Given the description of an element on the screen output the (x, y) to click on. 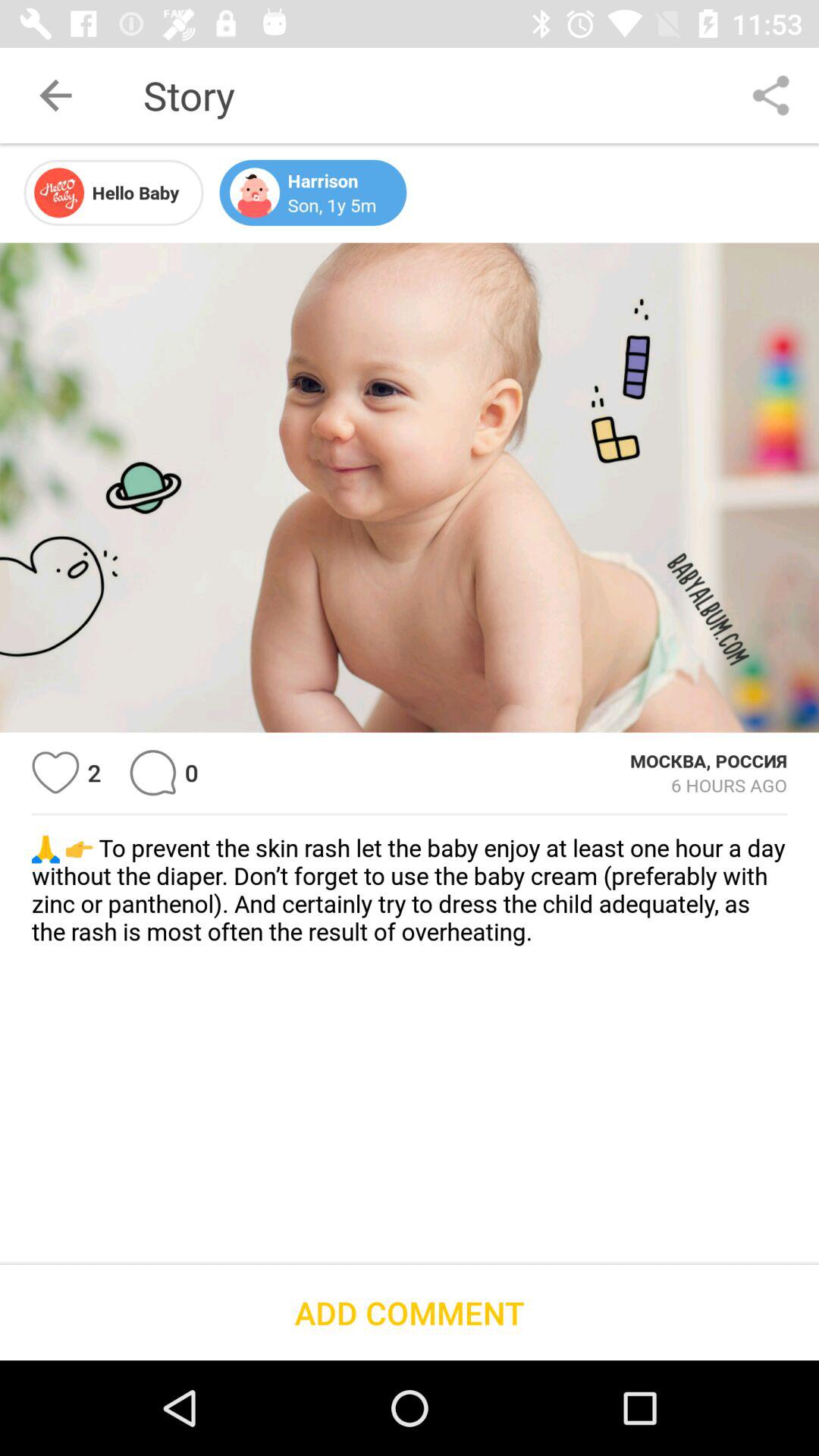
add like (55, 772)
